Given the description of an element on the screen output the (x, y) to click on. 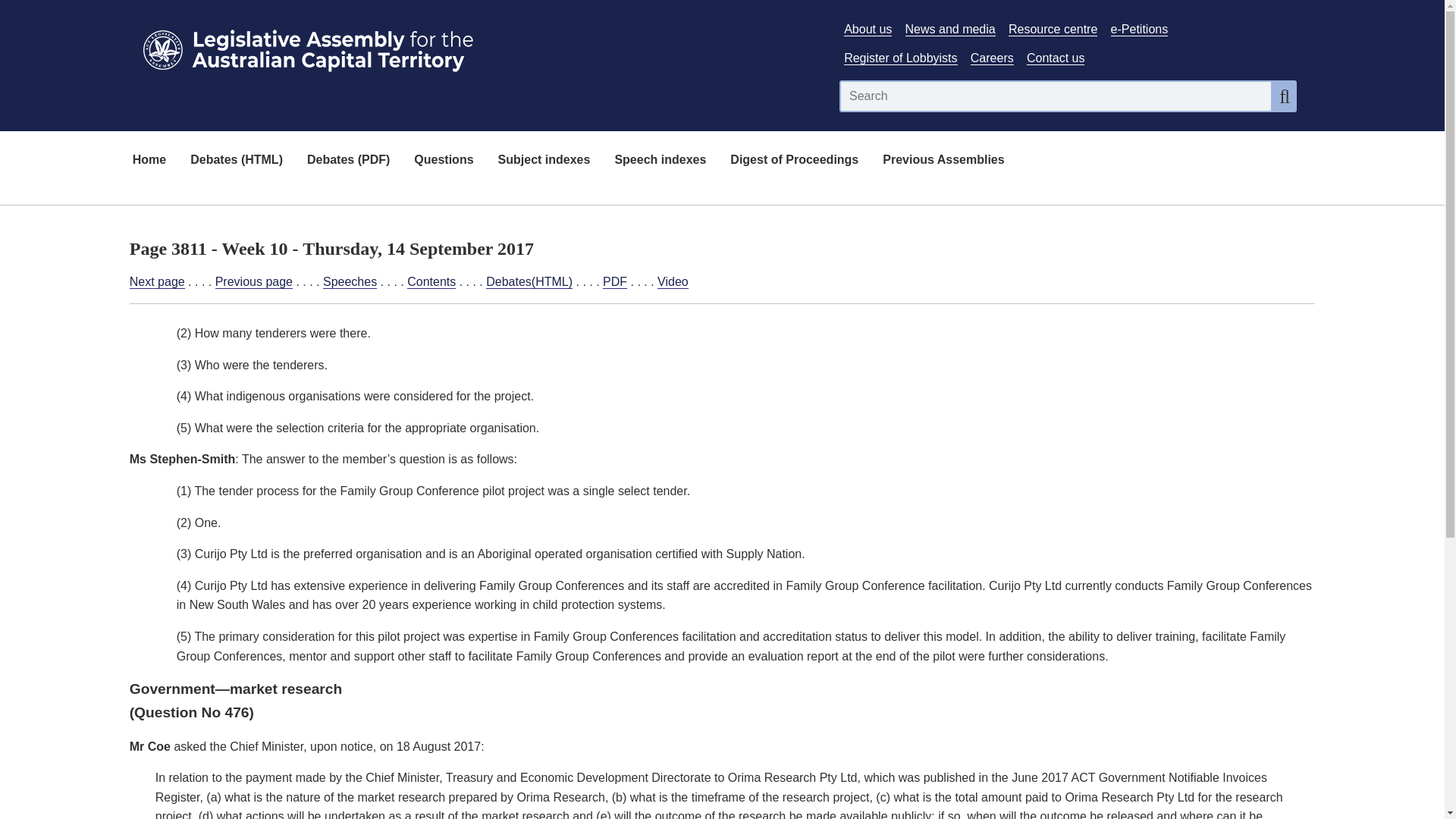
Speech indexes (659, 160)
Next page (156, 282)
Link to Contact Us (1055, 58)
Careers (992, 58)
Link to Resource centre (1053, 29)
Contents (431, 282)
e-Petitions (1139, 29)
Contact us (1055, 58)
Register of Lobbyists (900, 58)
Previous Assemblies (943, 160)
